Given the description of an element on the screen output the (x, y) to click on. 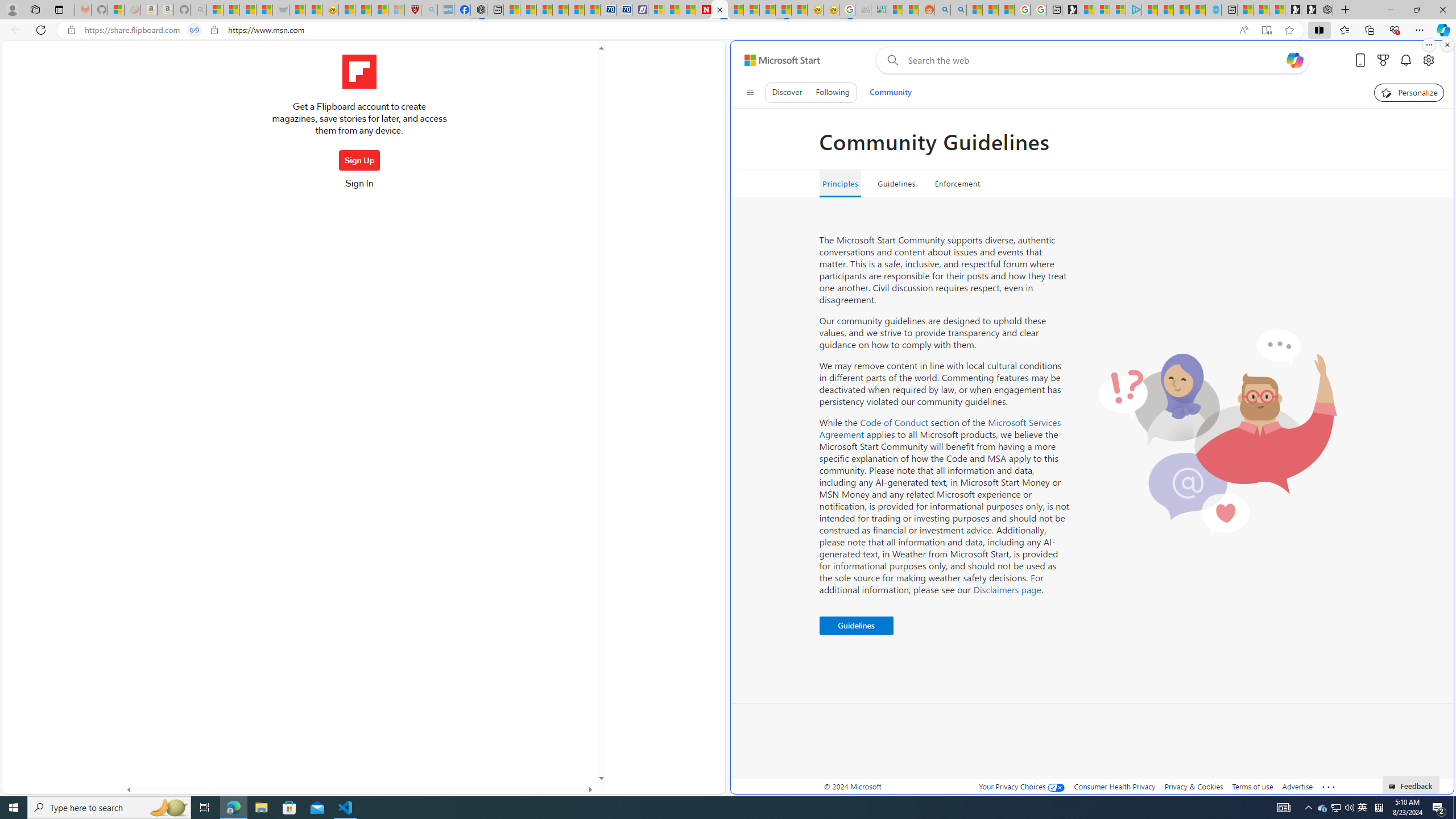
Tabs in split screen (194, 29)
Nordace - Nordace Siena Is Not An Ordinary Backpack (1324, 9)
Sign In (359, 186)
Web search (890, 60)
Microsoft Services Agreement (939, 428)
Newsweek - News, Analysis, Politics, Business, Technology (703, 9)
Advertise (1297, 786)
